Given the description of an element on the screen output the (x, y) to click on. 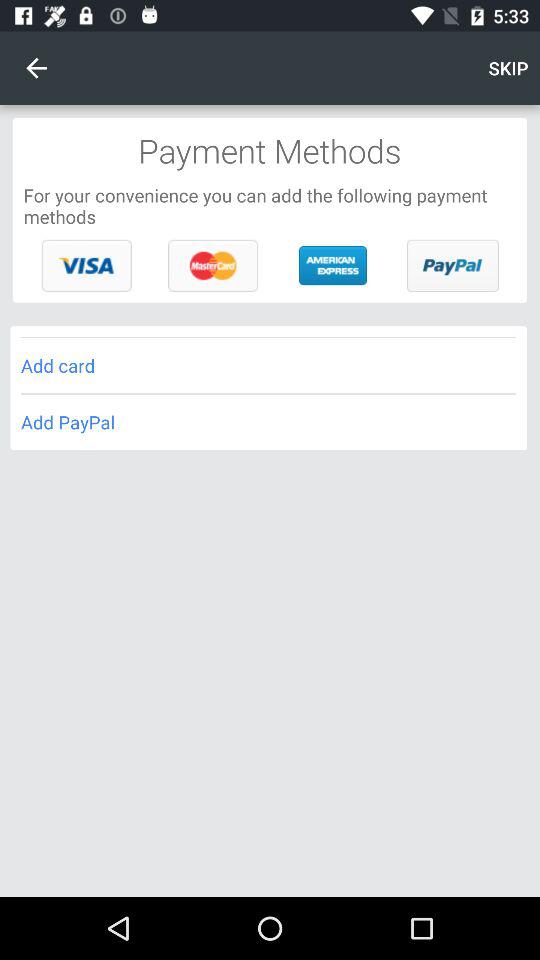
turn off the item below add card (268, 422)
